Given the description of an element on the screen output the (x, y) to click on. 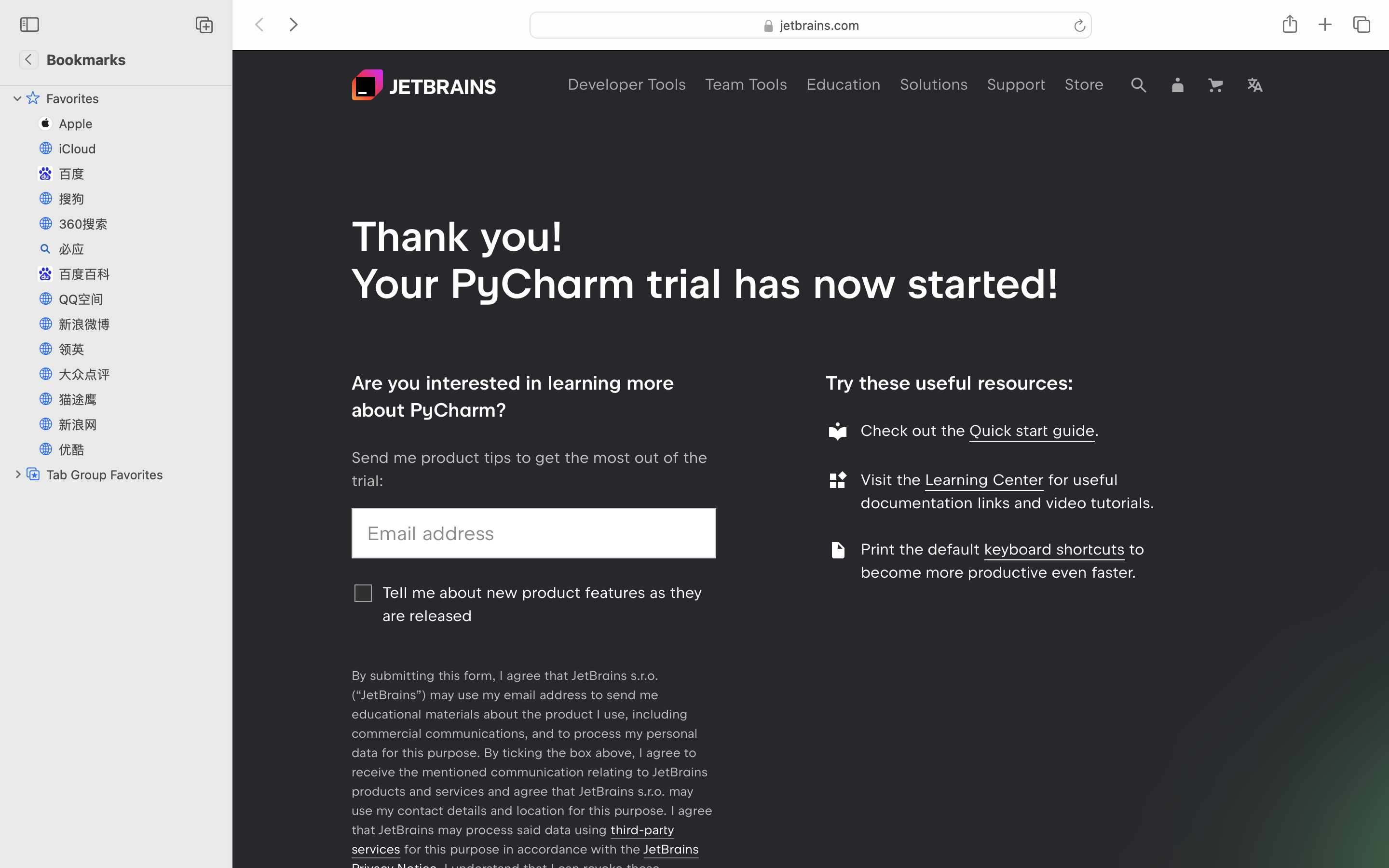
Try these useful resources: Element type: AXStaticText (949, 382)
keyboard shortcuts Element type: AXStaticText (1053, 549)
Check out the Element type: AXStaticText (915, 430)
